Given the description of an element on the screen output the (x, y) to click on. 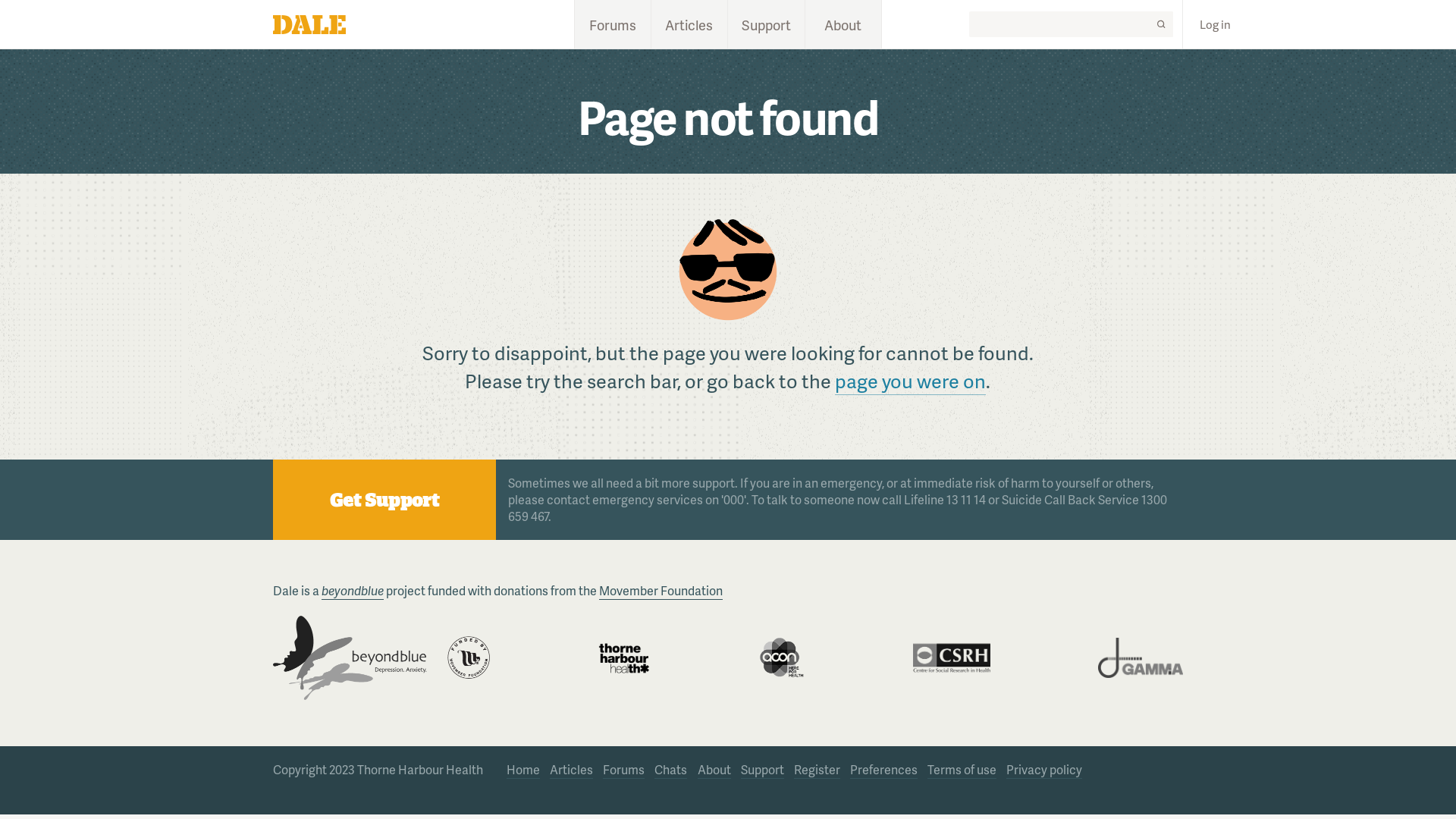
About Element type: text (714, 769)
Preferences Element type: text (883, 769)
Chats Element type: text (670, 769)
Support Element type: text (766, 24)
Home Element type: text (522, 769)
Log in Element type: text (1214, 24)
Movember Foundation Element type: text (660, 590)
Get Support Element type: text (384, 499)
Articles Element type: text (571, 769)
page you were on Element type: text (909, 381)
beyondblue Element type: text (352, 590)
Register Element type: text (816, 769)
Forums Element type: text (623, 769)
Articles Element type: text (688, 24)
Support Element type: text (762, 769)
Terms of use Element type: text (961, 769)
Privacy policy Element type: text (1044, 769)
About Element type: text (843, 24)
Forums Element type: text (612, 24)
